Given the description of an element on the screen output the (x, y) to click on. 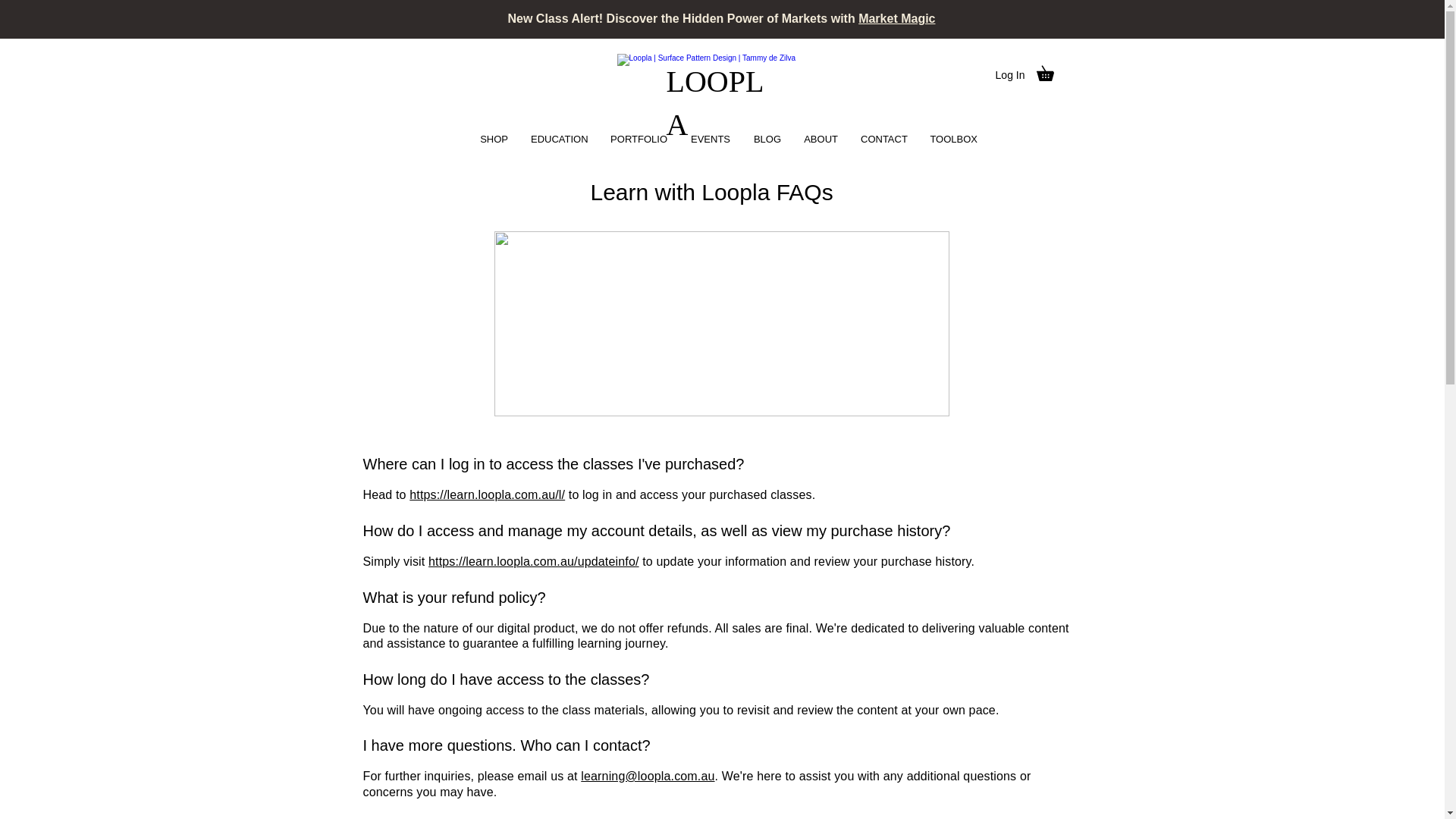
PORTFOLIO (638, 139)
Log In (1010, 75)
EDUCATION (558, 139)
SHOP (493, 139)
EVENTS (709, 139)
ABOUT (820, 139)
Market Magic (896, 18)
TOOLBOX (952, 139)
BLOG (766, 139)
CONTACT (882, 139)
